Given the description of an element on the screen output the (x, y) to click on. 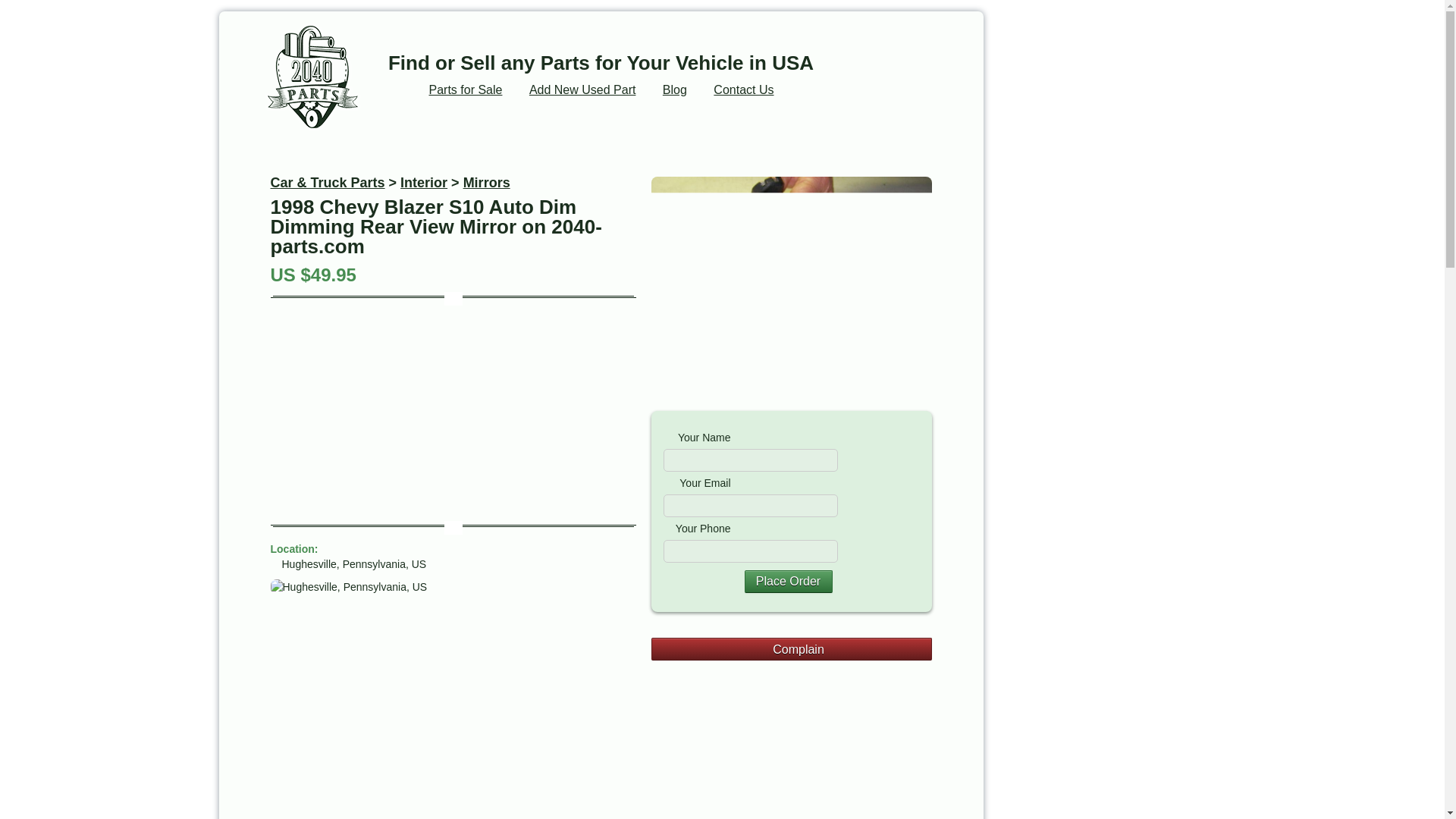
Add New Used Part (582, 89)
Mirrors (487, 182)
Place Order (788, 581)
Complain (790, 649)
Blog (674, 89)
Parts for Sale (465, 89)
Interior (423, 182)
Contact Us (743, 89)
